Given the description of an element on the screen output the (x, y) to click on. 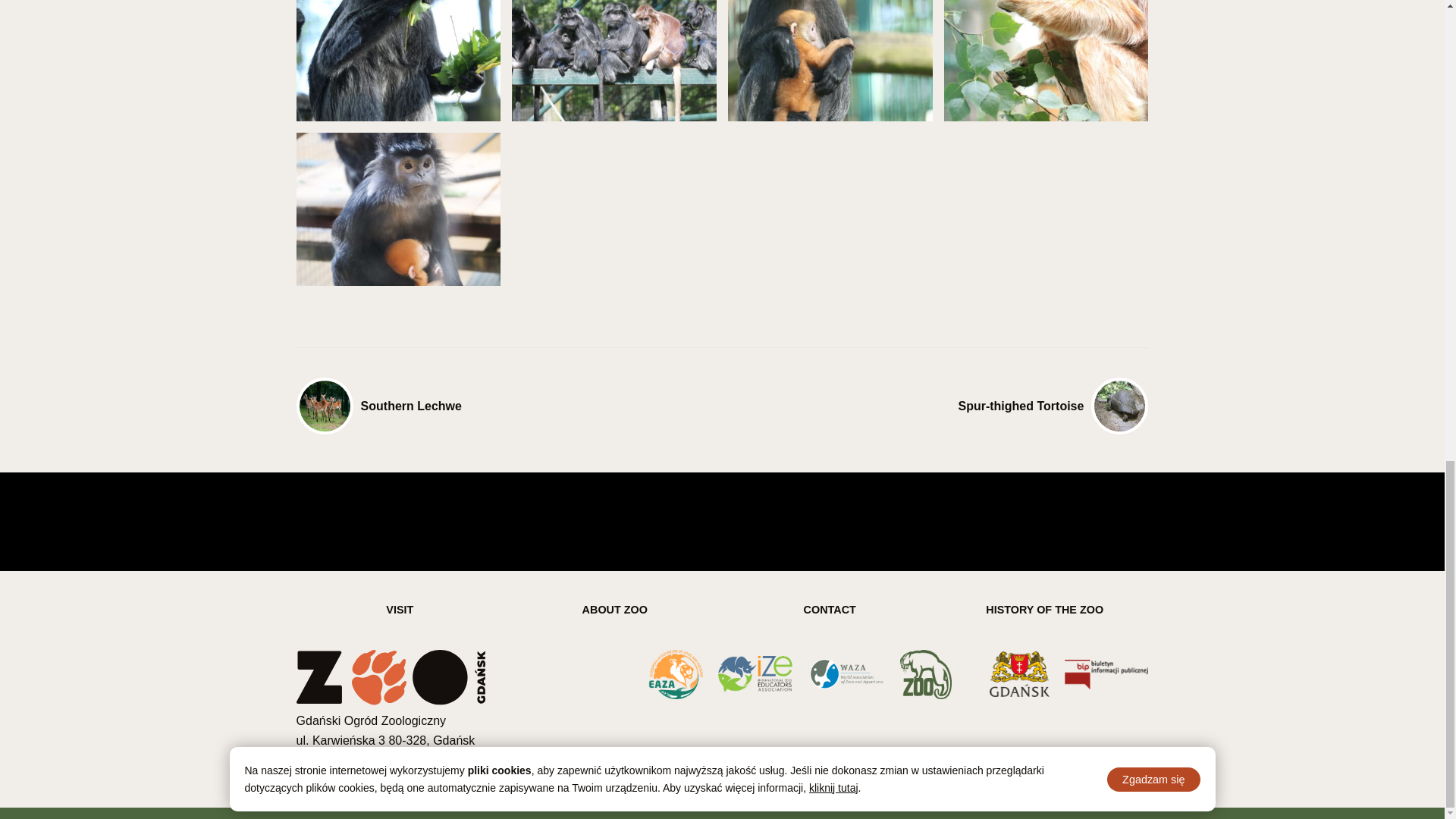
Southern Lechwe (509, 405)
Spur-thighed Tortoise (935, 405)
